Given the description of an element on the screen output the (x, y) to click on. 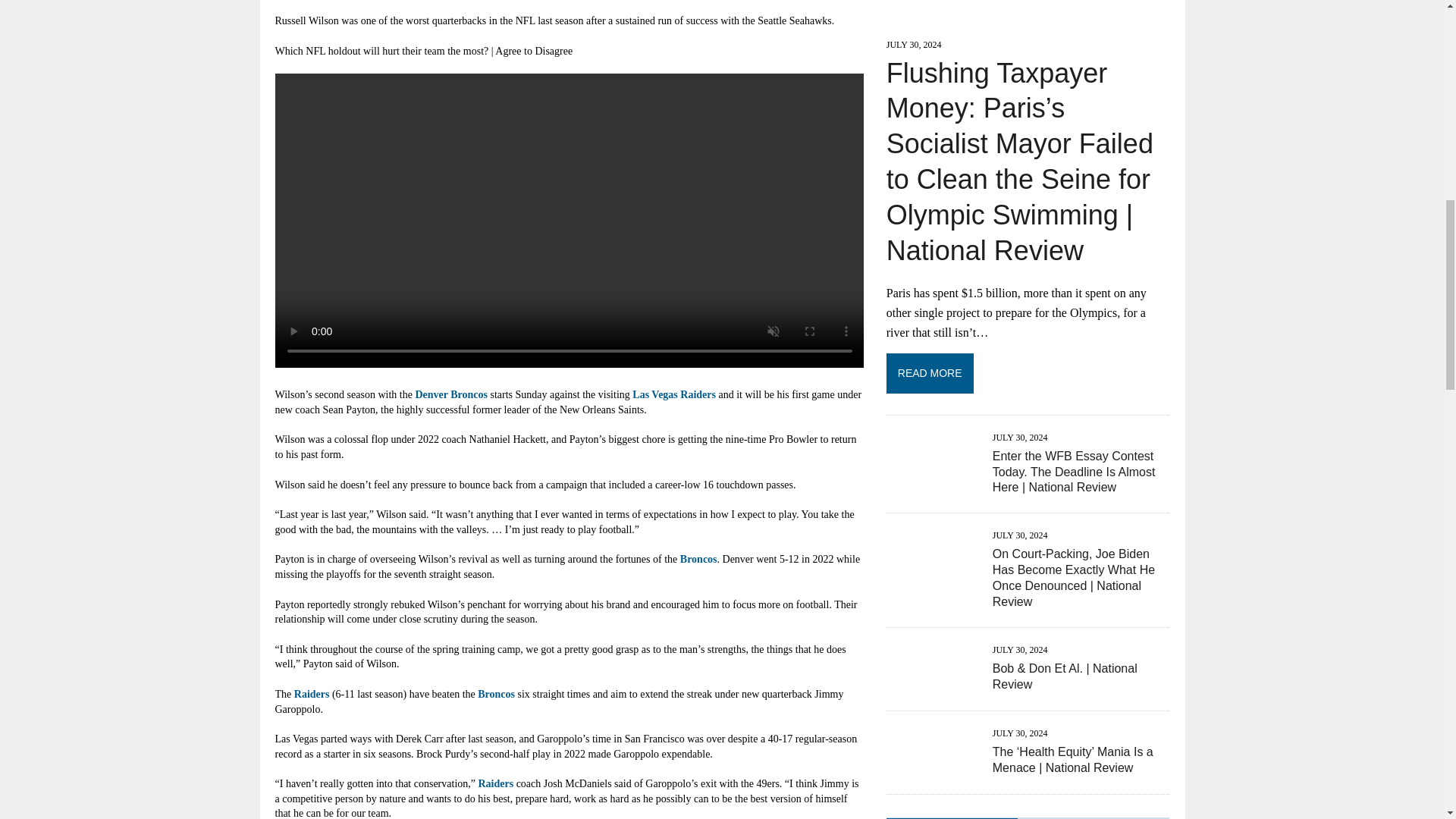
Broncos (496, 694)
Denver Broncos (450, 394)
Raiders (312, 694)
Raiders (495, 783)
Las Vegas Raiders (673, 394)
Broncos (698, 559)
